Given the description of an element on the screen output the (x, y) to click on. 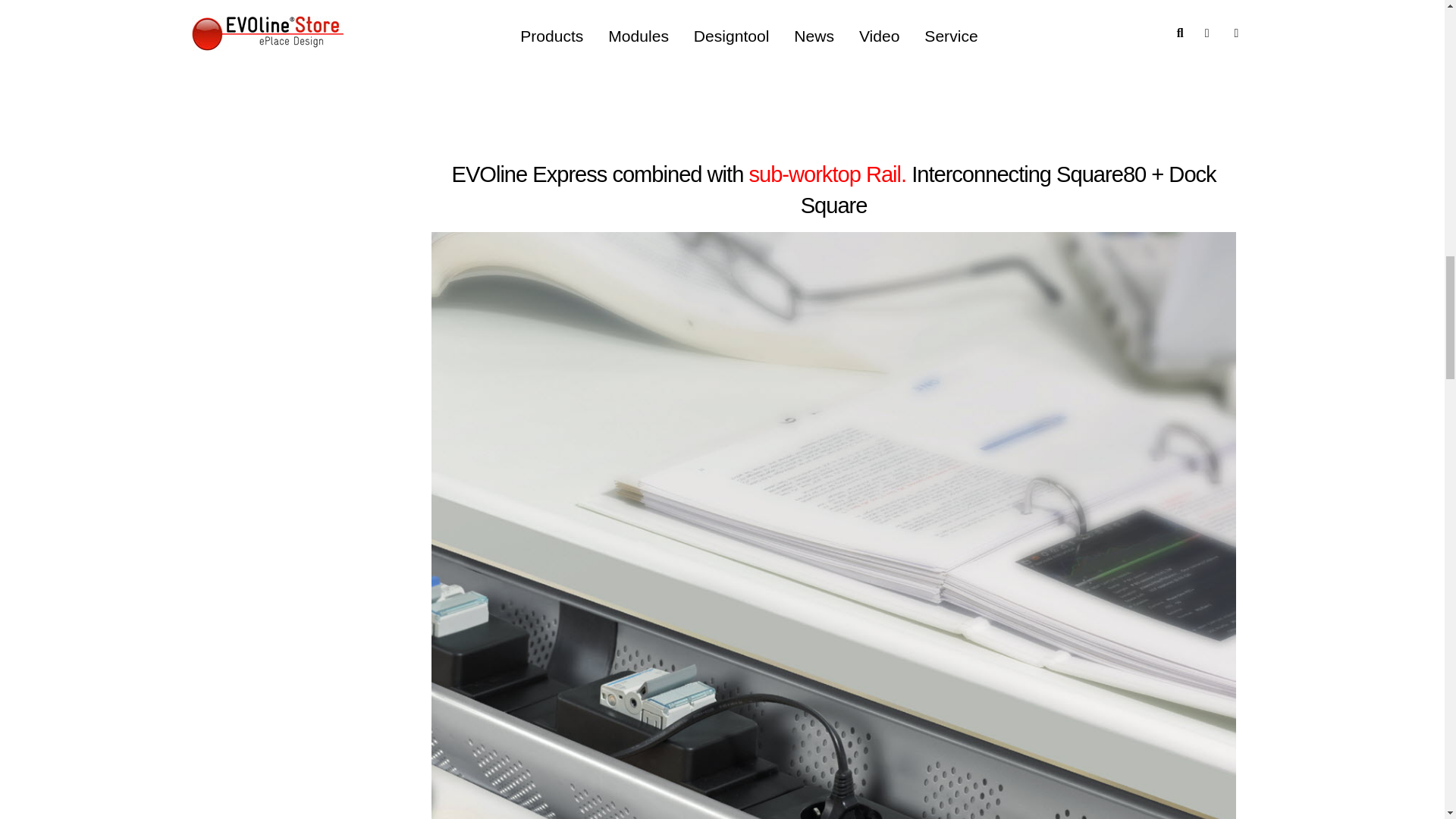
YouTube player (833, 60)
